Given the description of an element on the screen output the (x, y) to click on. 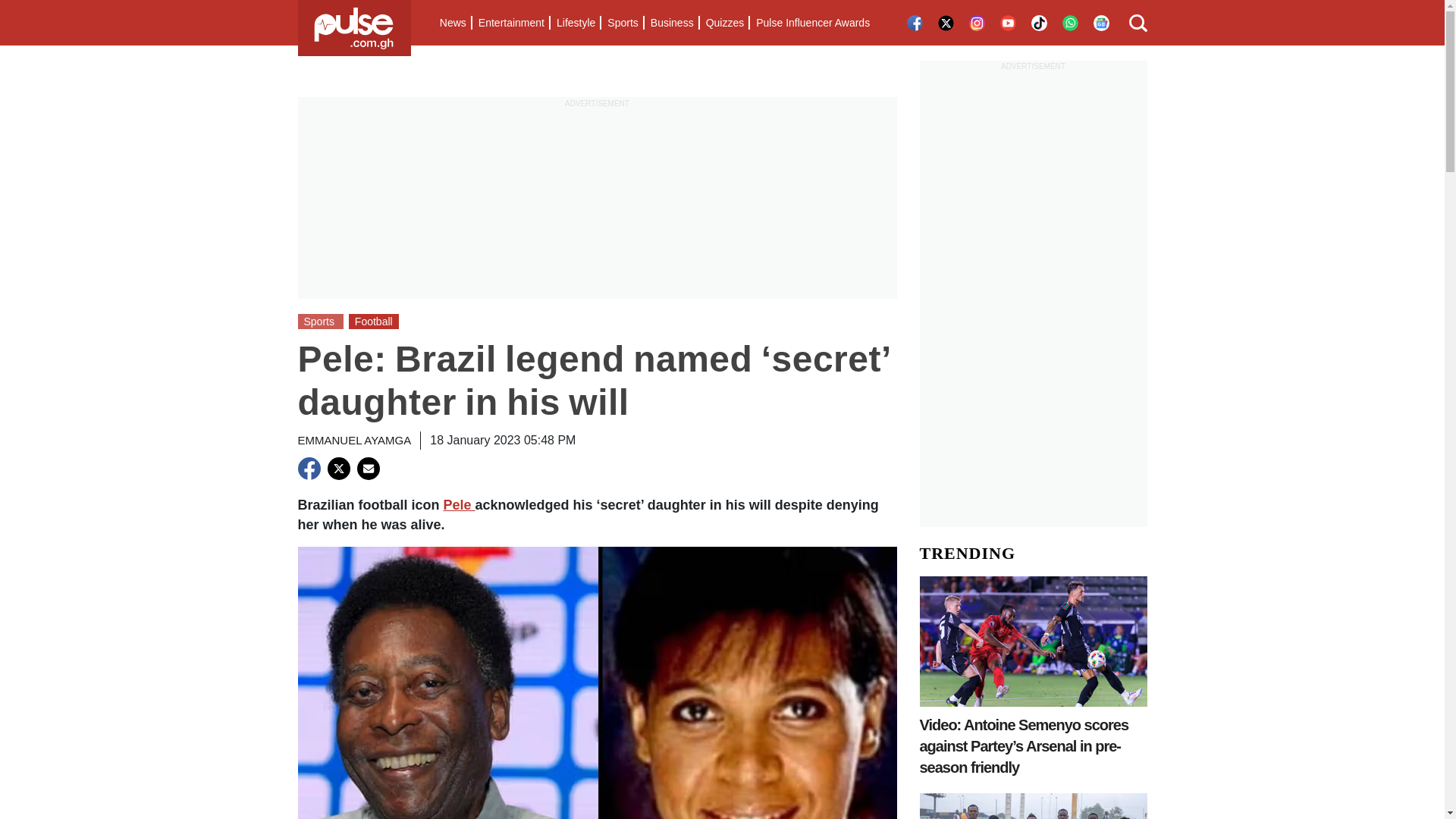
Entertainment (510, 22)
Business (672, 22)
Sports (622, 22)
Lifestyle (575, 22)
